Given the description of an element on the screen output the (x, y) to click on. 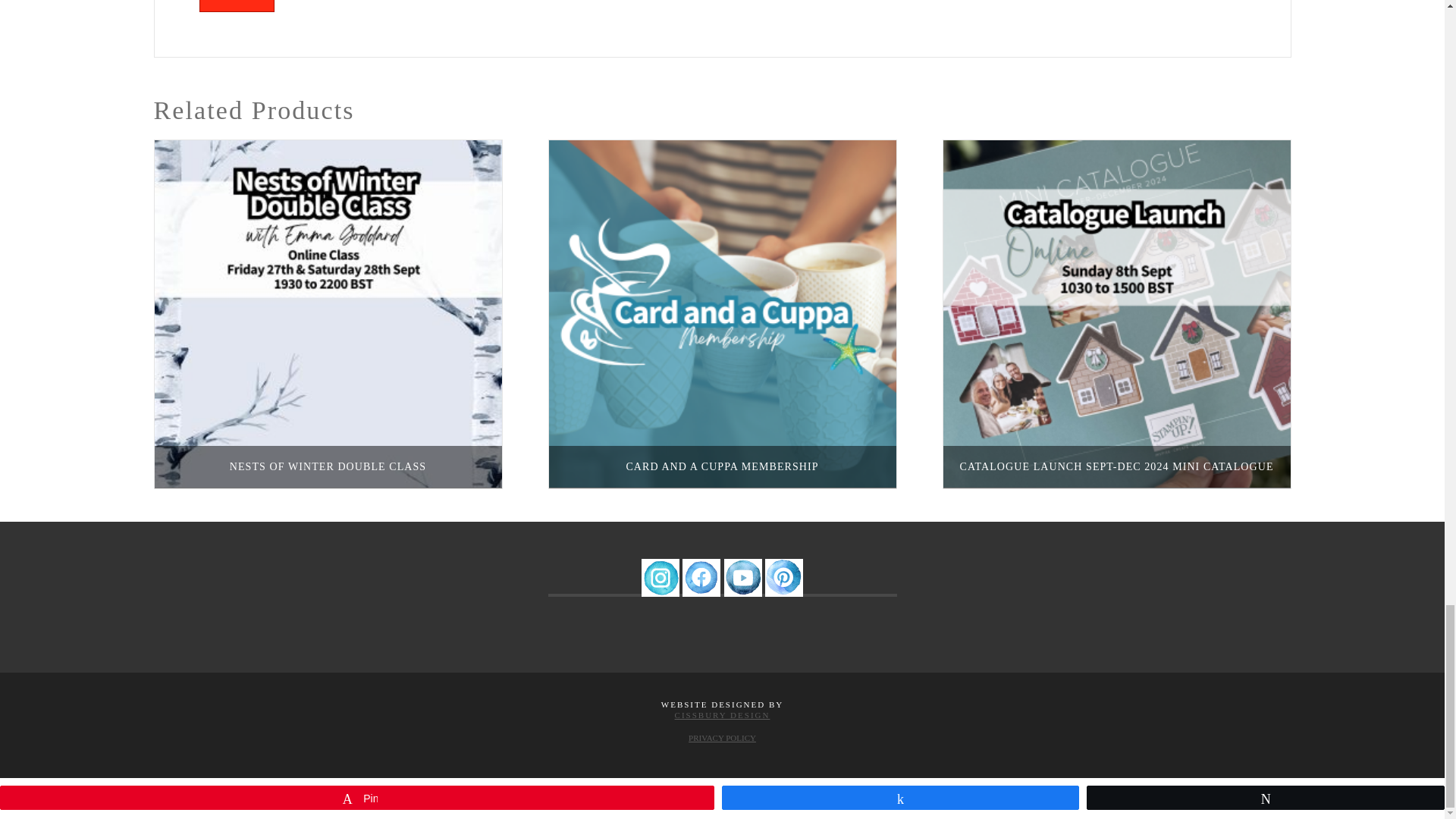
Submit (236, 6)
Cissbury Design (722, 714)
